Given the description of an element on the screen output the (x, y) to click on. 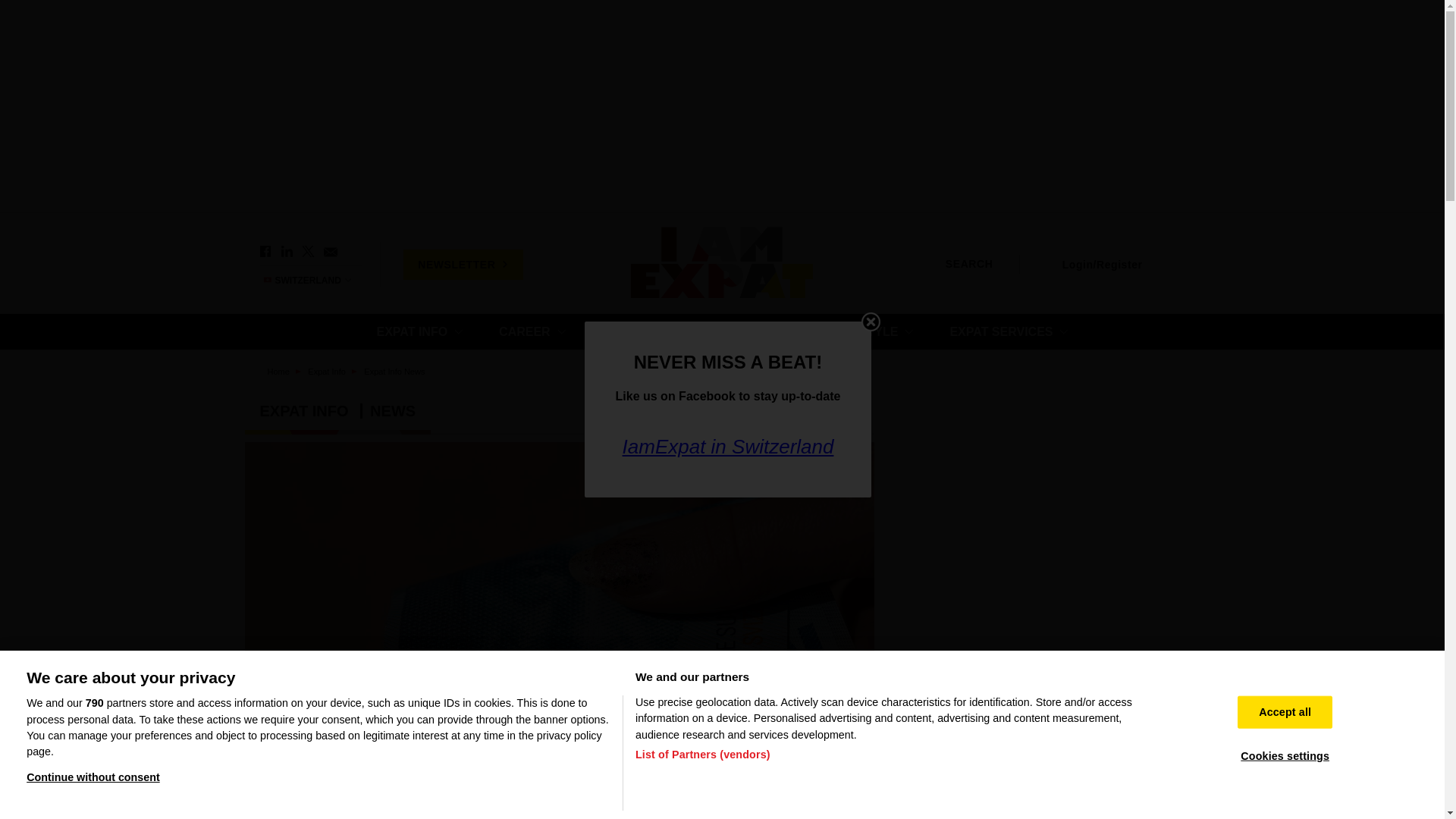
NEWSLETTER (462, 263)
SWITZERLAND (313, 280)
3rd party ad content (1047, 535)
EXPAT INFO (419, 331)
NEWSLETTER (462, 263)
Facebook (265, 251)
Home (721, 263)
Twitter (307, 251)
Newsletter (329, 251)
